Given the description of an element on the screen output the (x, y) to click on. 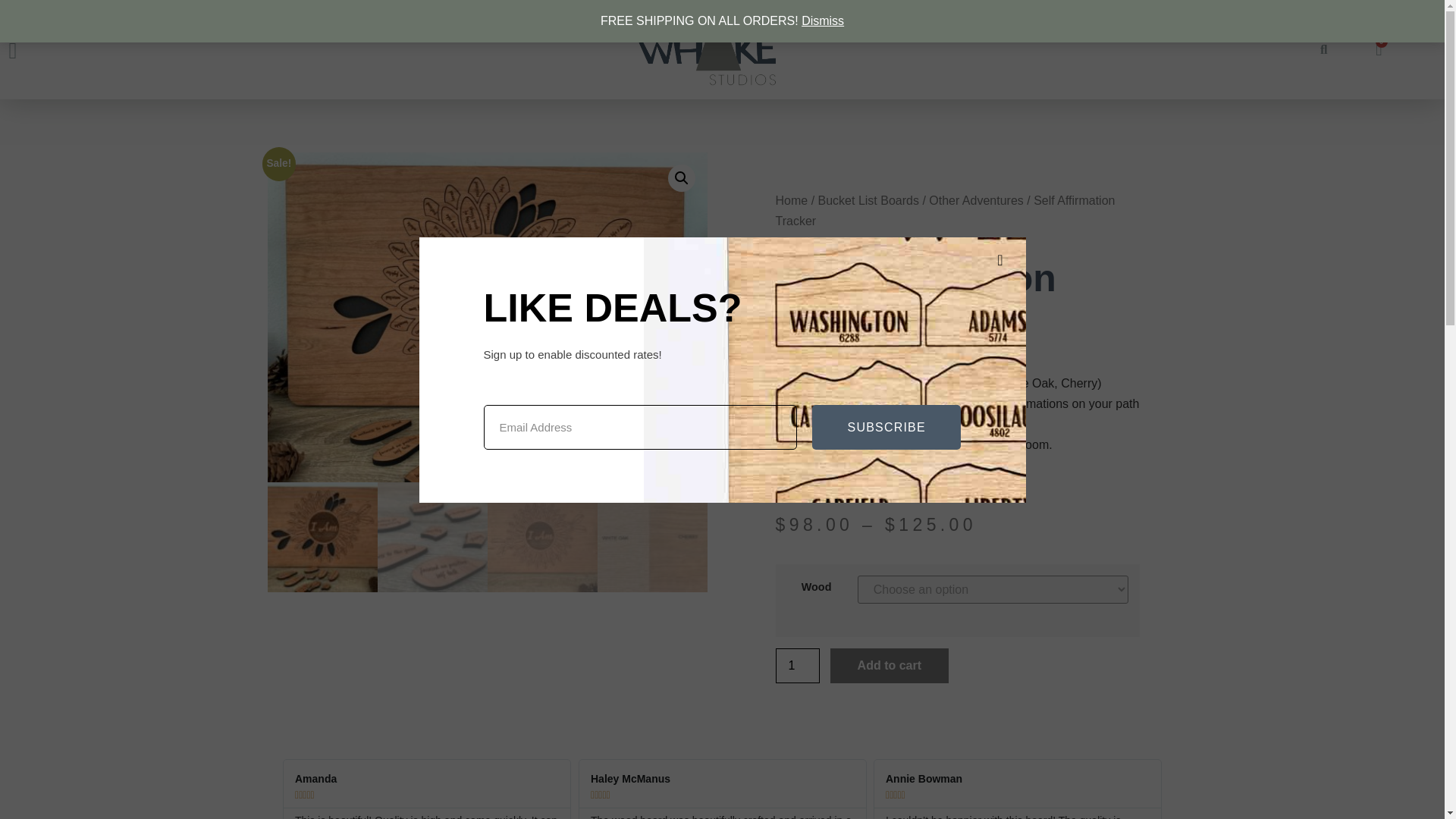
1 (796, 665)
